Given the description of an element on the screen output the (x, y) to click on. 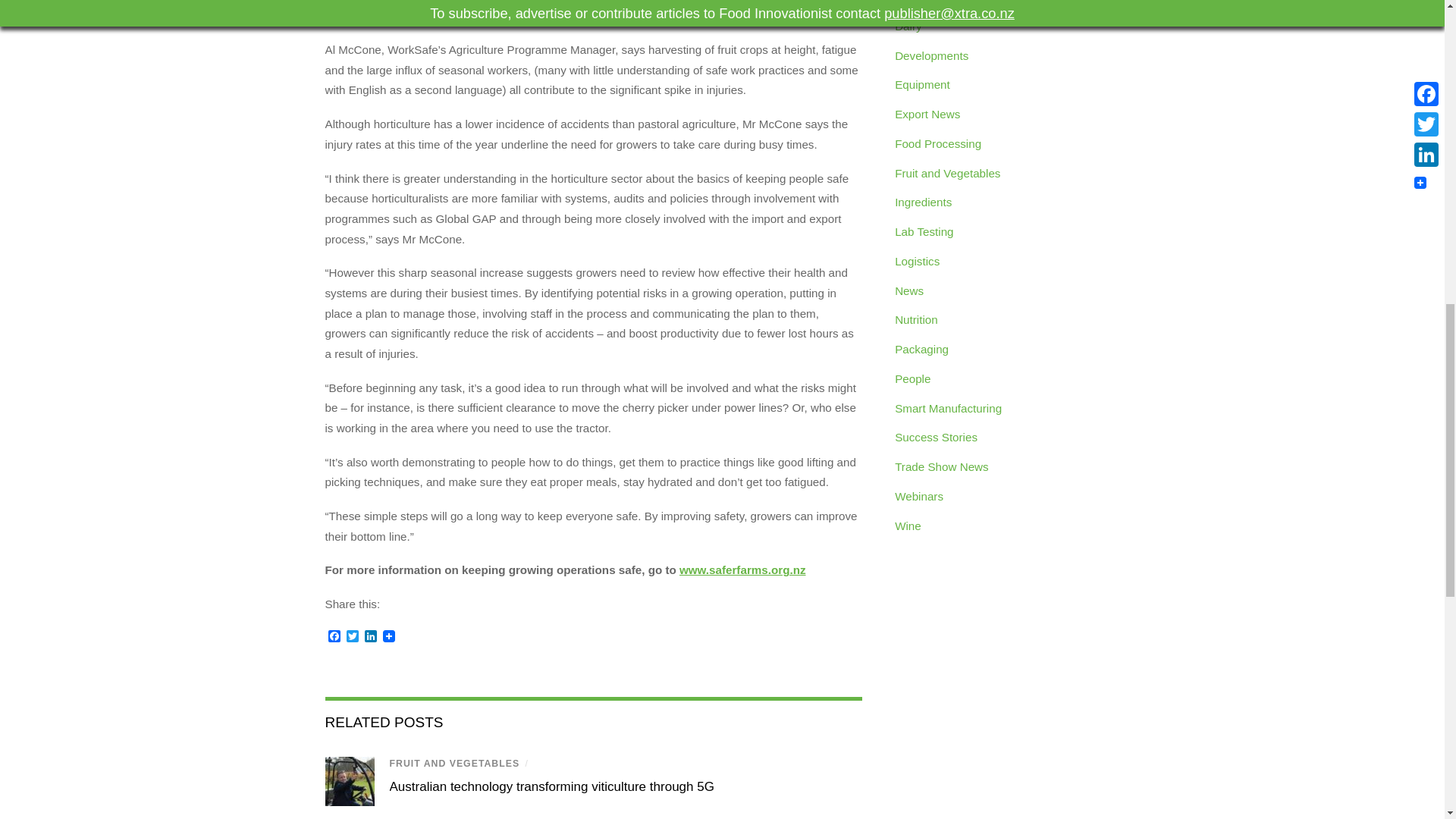
LinkedIn (369, 636)
Facebook (333, 636)
Australian technology transforming viticulture through 5G (552, 786)
Australian technology (349, 780)
Twitter (351, 636)
